Given the description of an element on the screen output the (x, y) to click on. 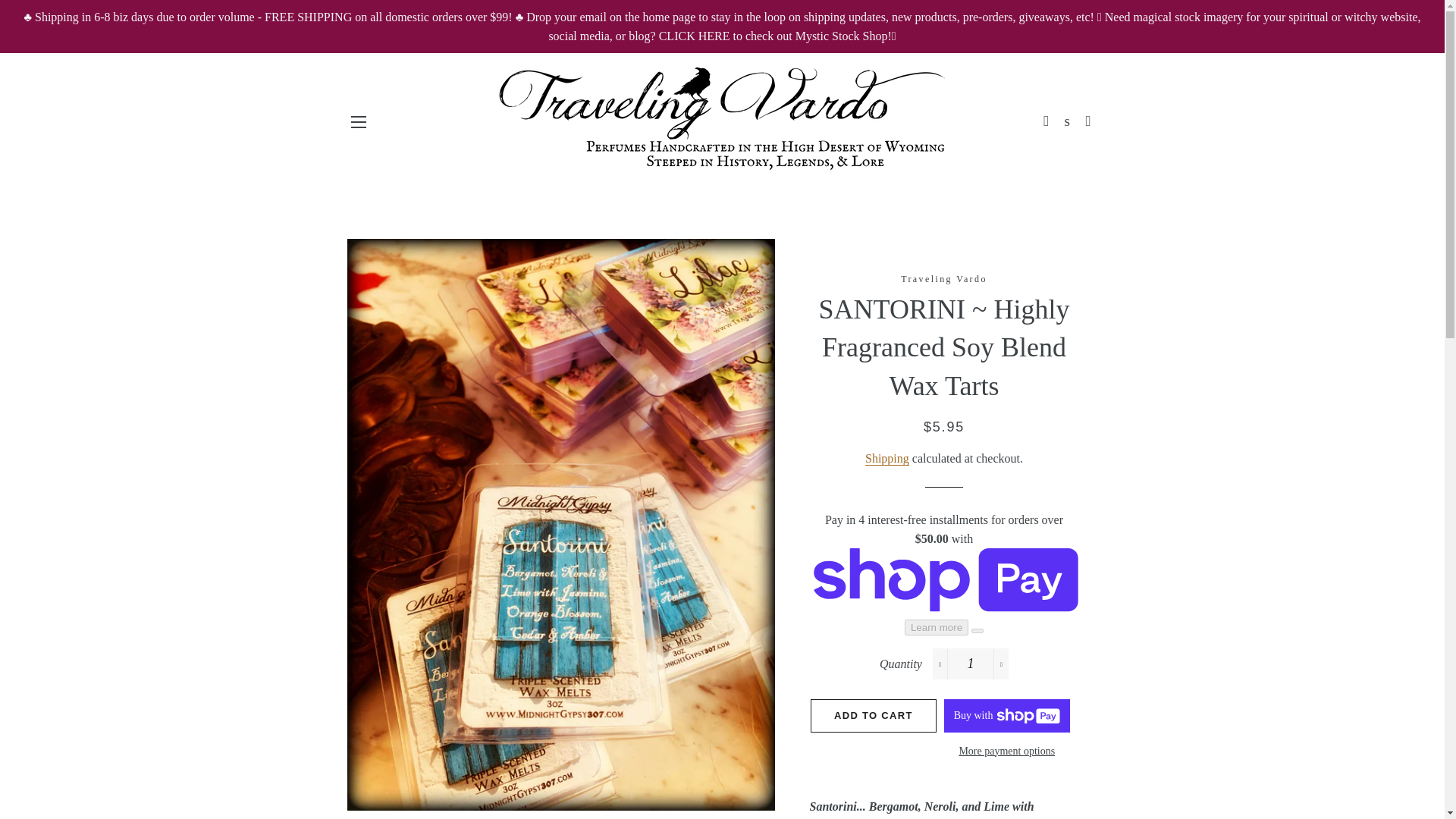
1 (971, 663)
CART (1088, 121)
Shipping (886, 459)
SEARCH (1067, 121)
SITE NAVIGATION (358, 121)
LOG IN (1046, 121)
